Given the description of an element on the screen output the (x, y) to click on. 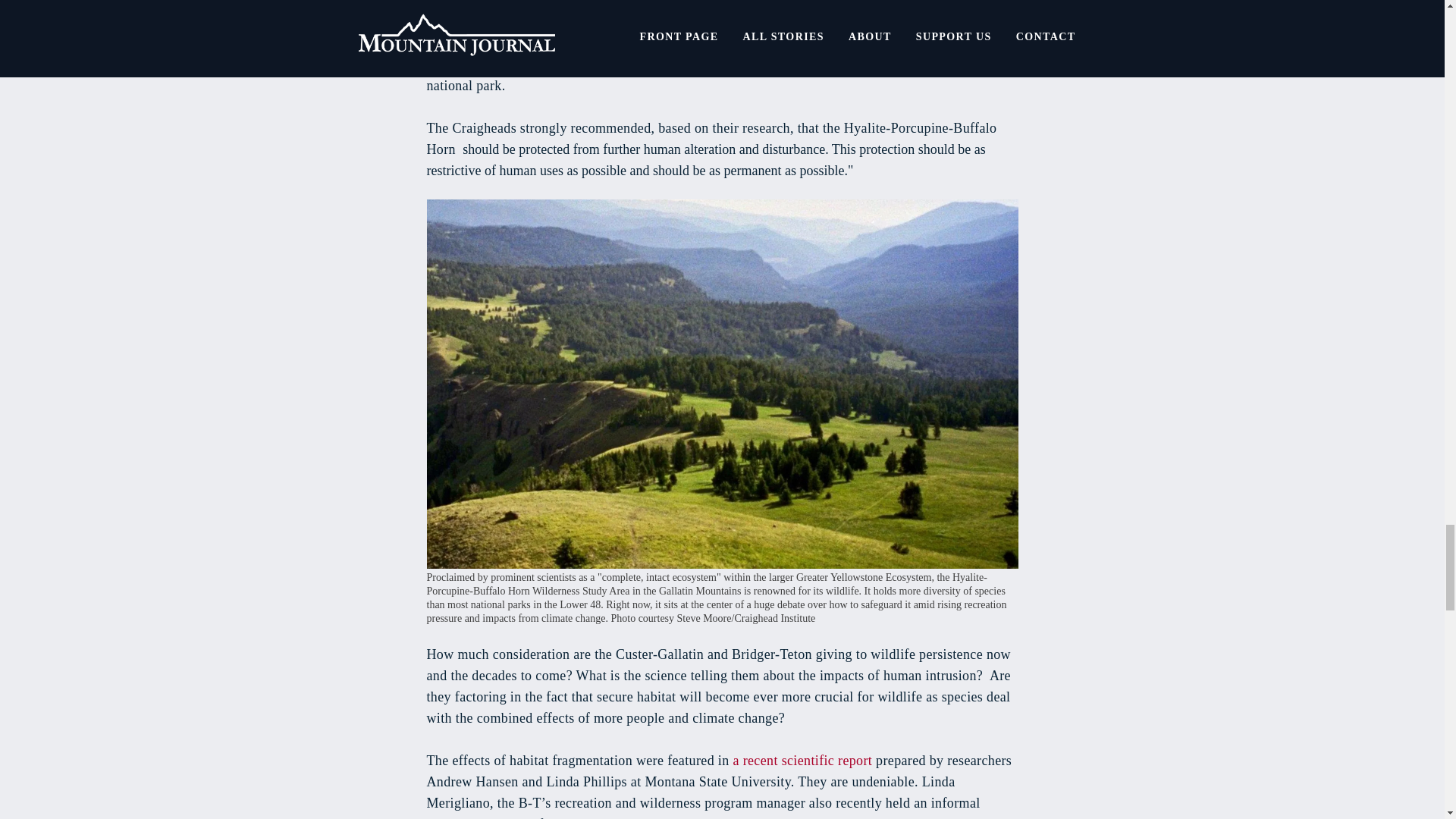
Montanans For Gallatin Wilderness (830, 43)
